Given the description of an element on the screen output the (x, y) to click on. 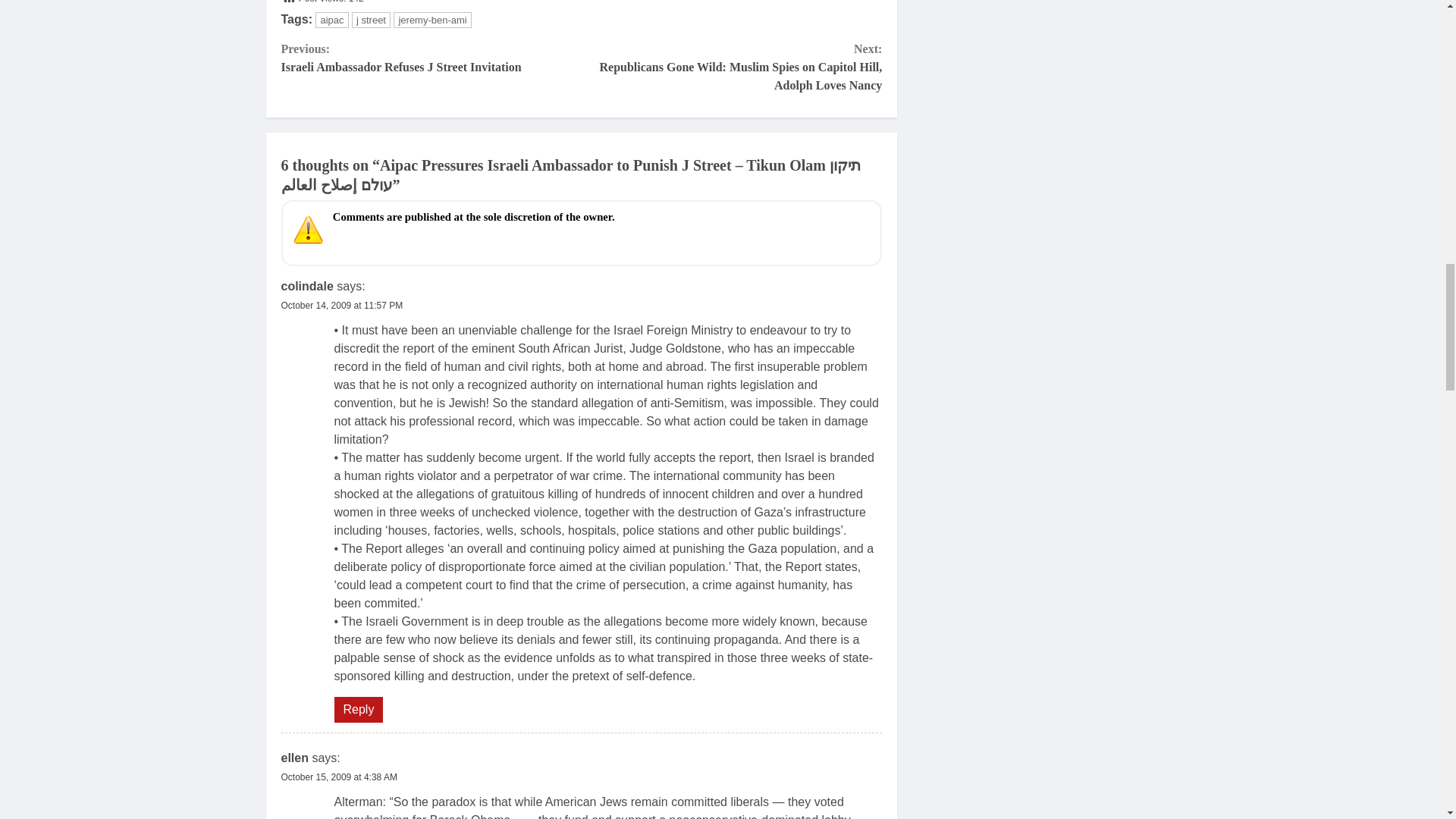
October 15, 2009 at 4:38 AM (338, 777)
j street (371, 19)
Reply (357, 709)
October 14, 2009 at 11:57 PM (342, 305)
aipac (331, 19)
jeremy-ben-ami (431, 19)
